Given the description of an element on the screen output the (x, y) to click on. 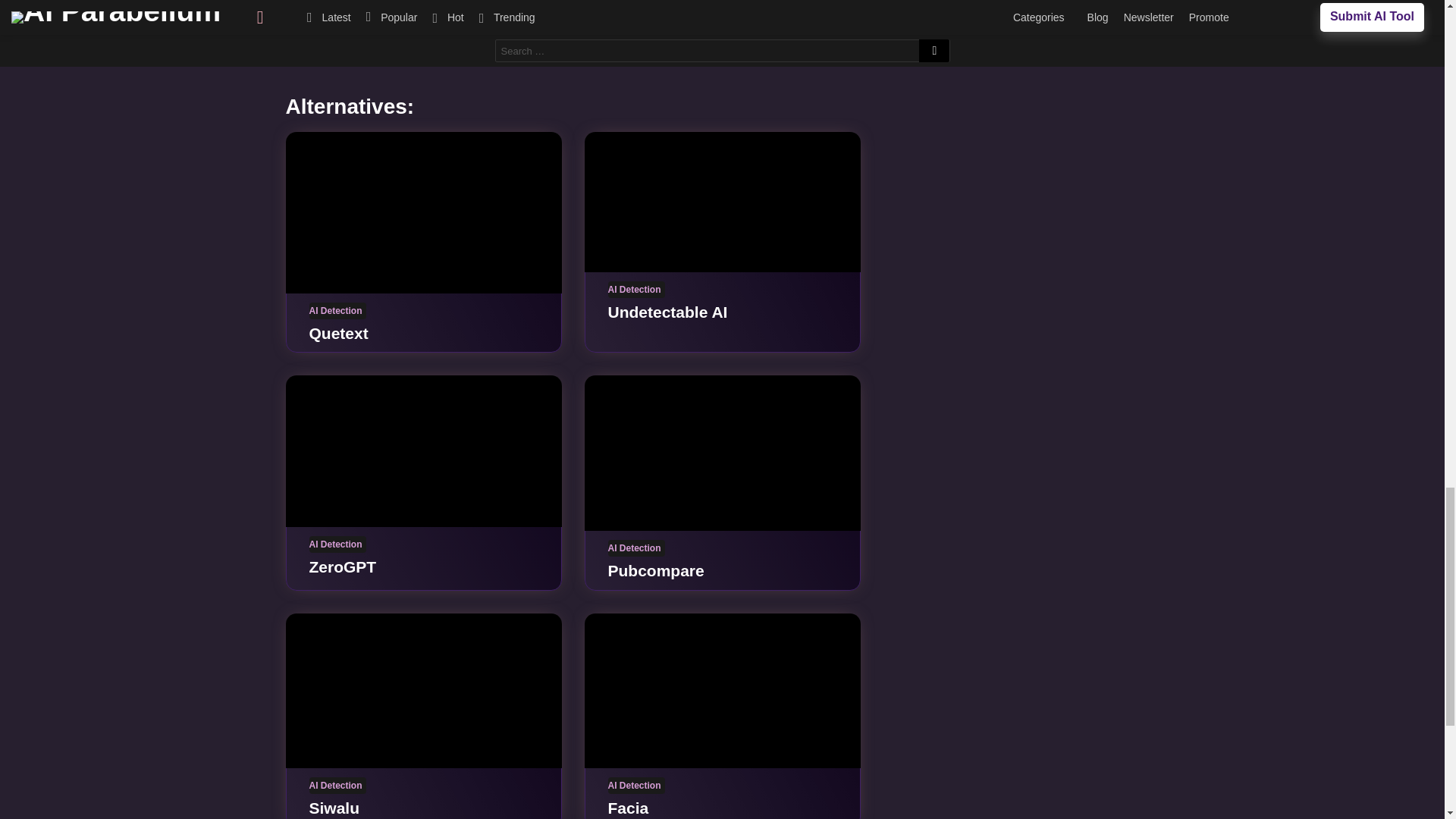
Facia (721, 691)
Undetectable AI (721, 201)
Upvote (551, 22)
ZeroGPT (422, 450)
Upvote (551, 22)
Quetext (338, 333)
Undetectable AI (668, 312)
Pubcompare (721, 452)
Siwalu (422, 691)
AI Detection (337, 310)
Quetext (422, 212)
AI Detection (636, 289)
